Given the description of an element on the screen output the (x, y) to click on. 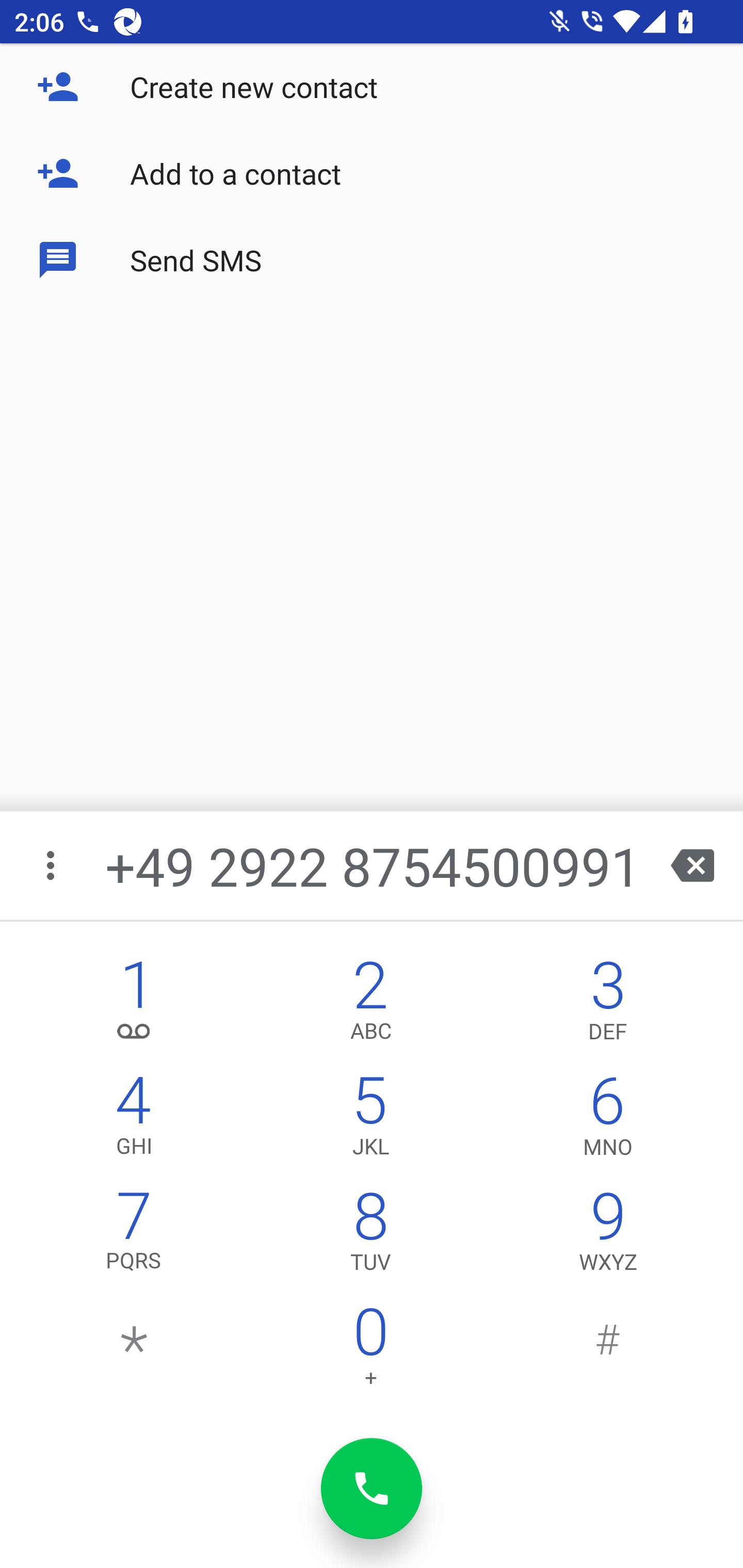
Create new contact (371, 86)
Add to a contact (371, 173)
Send SMS (371, 259)
+49 2922 8754500991 (372, 865)
backspace (692, 865)
More options (52, 865)
1, 1 (133, 1005)
2,ABC 2 ABC (370, 1005)
3,DEF 3 DEF (607, 1005)
4,GHI 4 GHI (133, 1120)
5,JKL 5 JKL (370, 1120)
6,MNO 6 MNO (607, 1120)
7,PQRS 7 PQRS (133, 1235)
8,TUV 8 TUV (370, 1235)
9,WXYZ 9 WXYZ (607, 1235)
* (133, 1351)
0 0 + (370, 1351)
# (607, 1351)
dial (371, 1488)
